Given the description of an element on the screen output the (x, y) to click on. 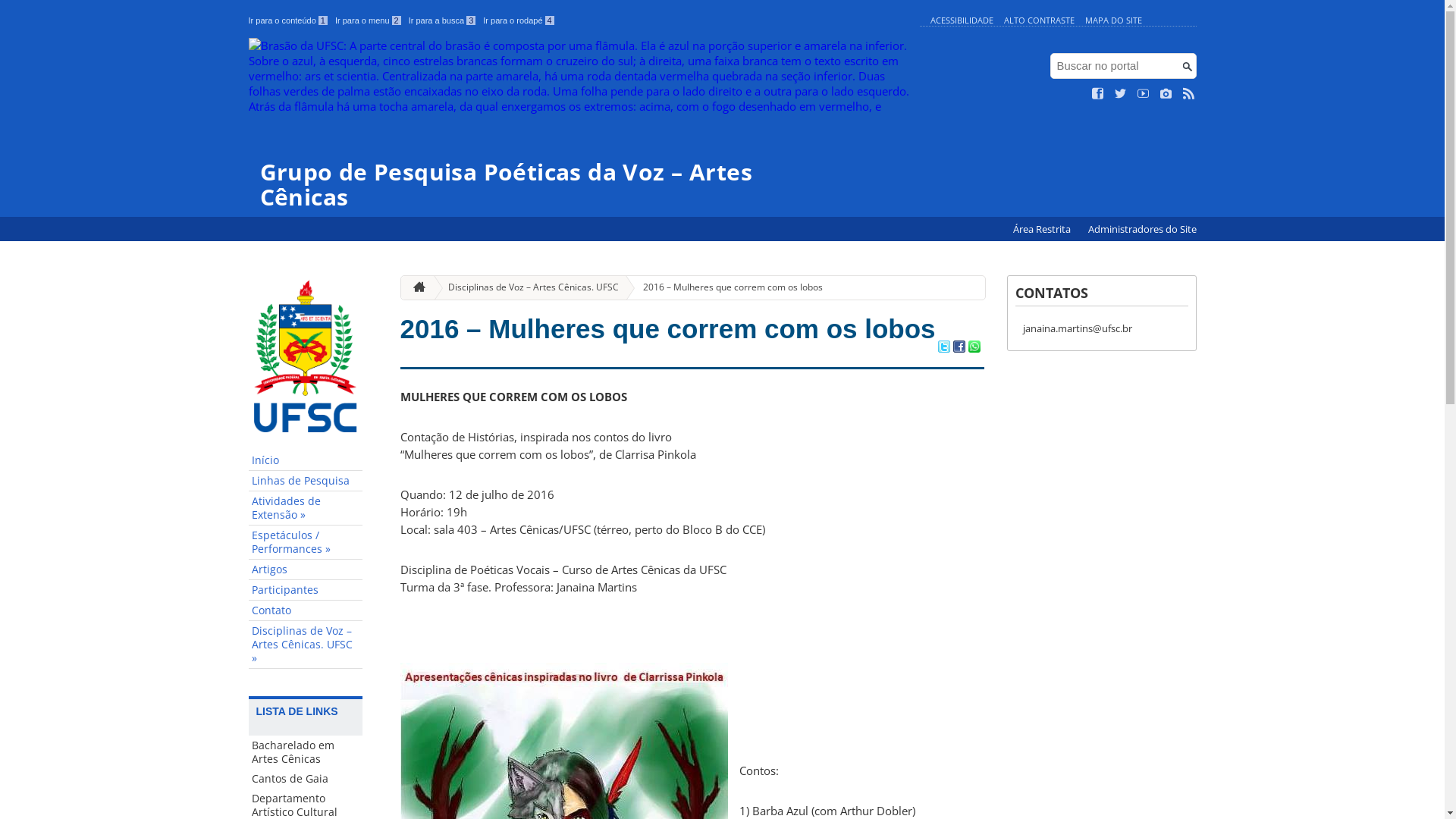
Linhas de Pesquisa Element type: text (305, 480)
Ir para a busca 3 Element type: text (442, 20)
Contato Element type: text (305, 610)
Administradores do Site Element type: text (1141, 228)
Siga no Twitter Element type: hover (1120, 93)
Veja no Instagram Element type: hover (1166, 93)
ACESSIBILIDADE Element type: text (960, 19)
Cantos de Gaia Element type: text (305, 778)
Compartilhar no Twitter Element type: hover (943, 347)
Participantes Element type: text (305, 590)
Compartilhar no WhatsApp Element type: hover (973, 347)
Ir para o menu 2 Element type: text (368, 20)
Compartilhar no Facebook Element type: hover (958, 347)
Artigos Element type: text (305, 569)
Curta no Facebook Element type: hover (1098, 93)
MAPA DO SITE Element type: text (1112, 19)
ALTO CONTRASTE Element type: text (1039, 19)
